Given the description of an element on the screen output the (x, y) to click on. 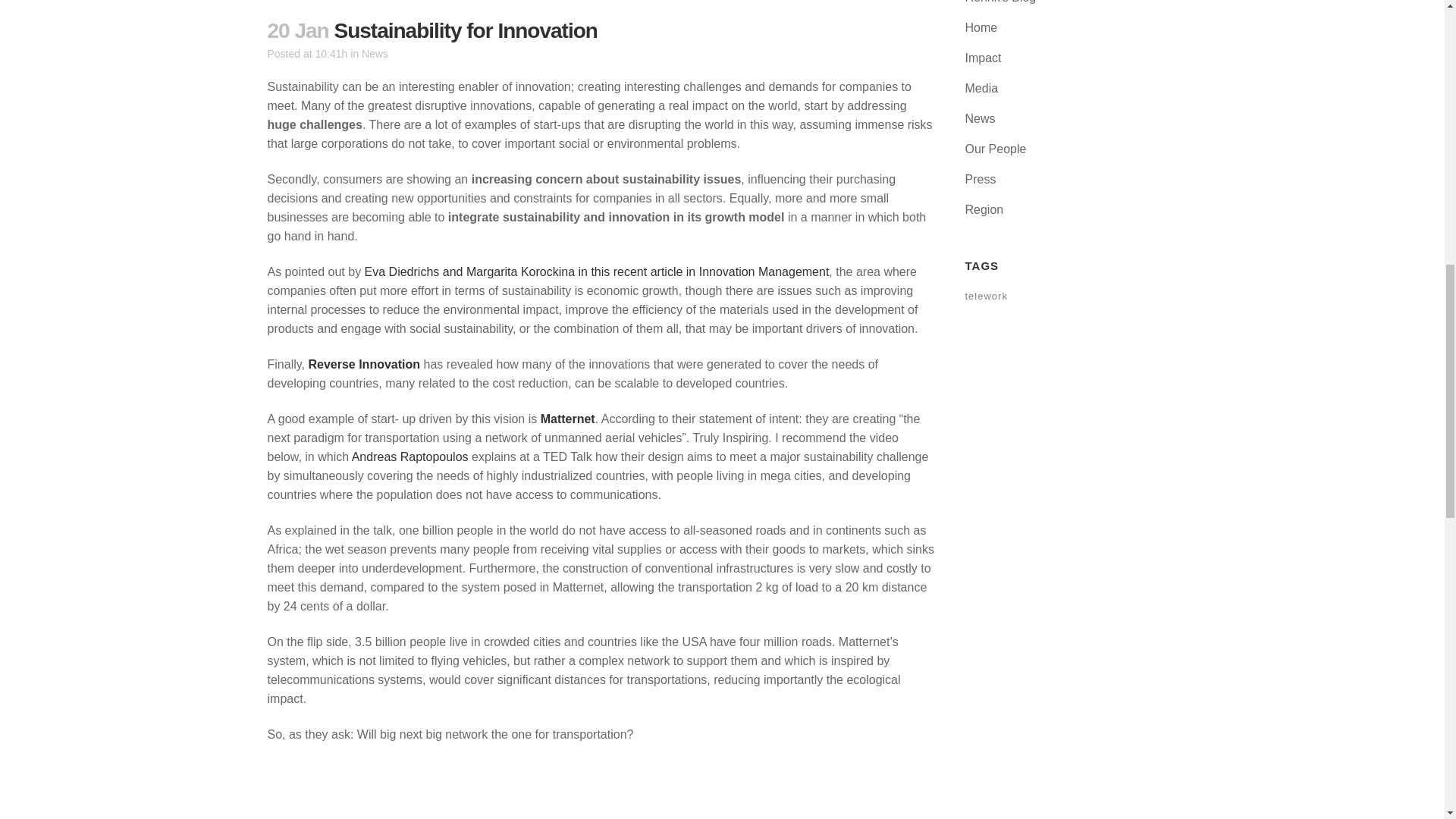
Andreas Raptopoulos (410, 456)
Reverse Innovation (363, 364)
Matternet (567, 418)
News (374, 53)
